Given the description of an element on the screen output the (x, y) to click on. 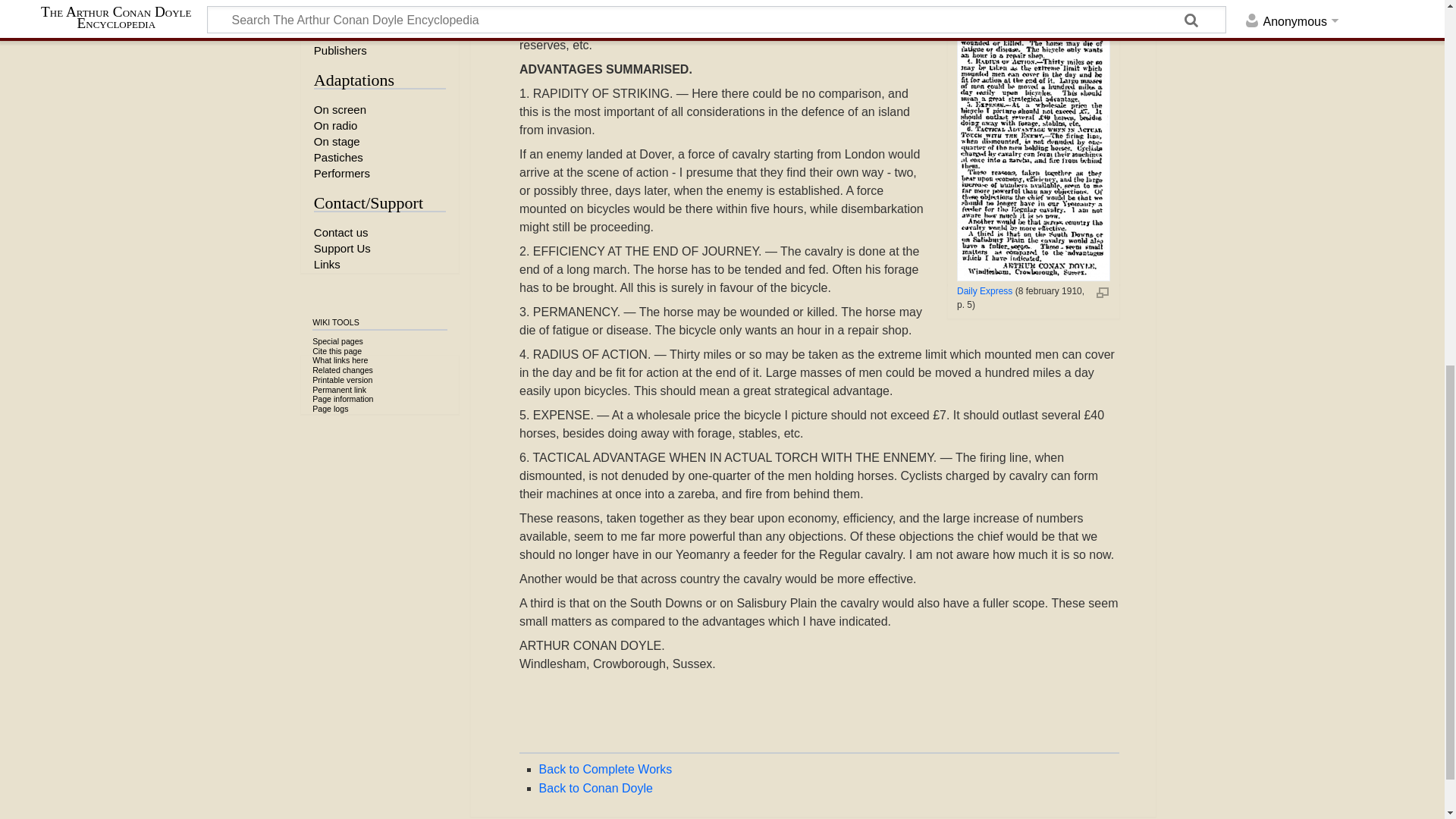
Sir Arthur Conan Doyle (595, 788)
Daily Express (983, 290)
Daily Express (983, 290)
Information on how to cite this page (337, 350)
Sir Arthur Conan Doyle:Complete Works (605, 768)
Back to Conan Doyle (595, 788)
Back to Complete Works (605, 768)
